Given the description of an element on the screen output the (x, y) to click on. 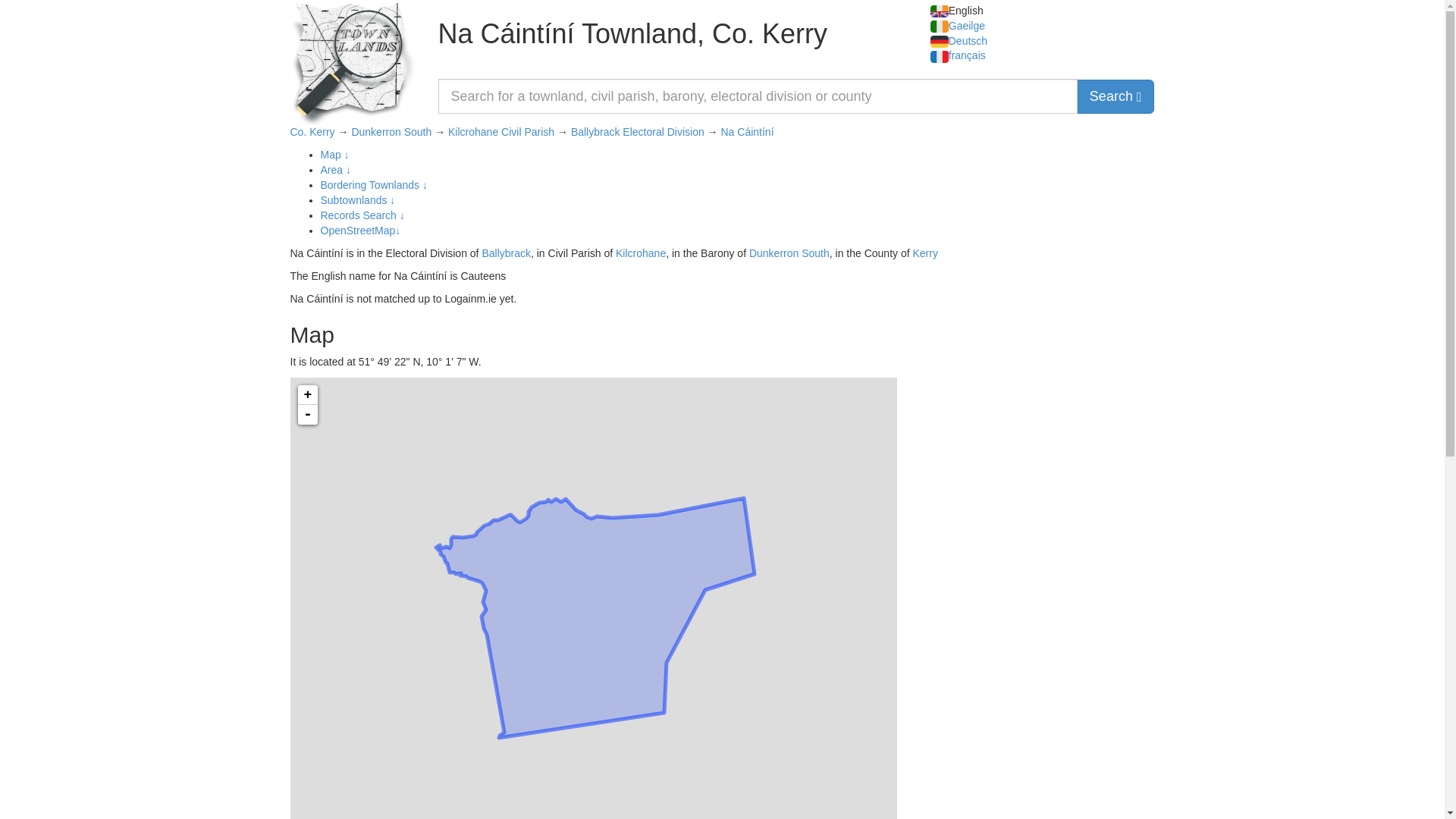
Ballybrack Electoral Division (637, 132)
Dunkerron South (390, 132)
Zoom in (307, 394)
Dunkerron South (789, 253)
Search (1115, 95)
Gaeilge (957, 25)
Co. Kerry (311, 132)
Kerry (924, 253)
- (307, 414)
Ballybrack (506, 253)
